Given the description of an element on the screen output the (x, y) to click on. 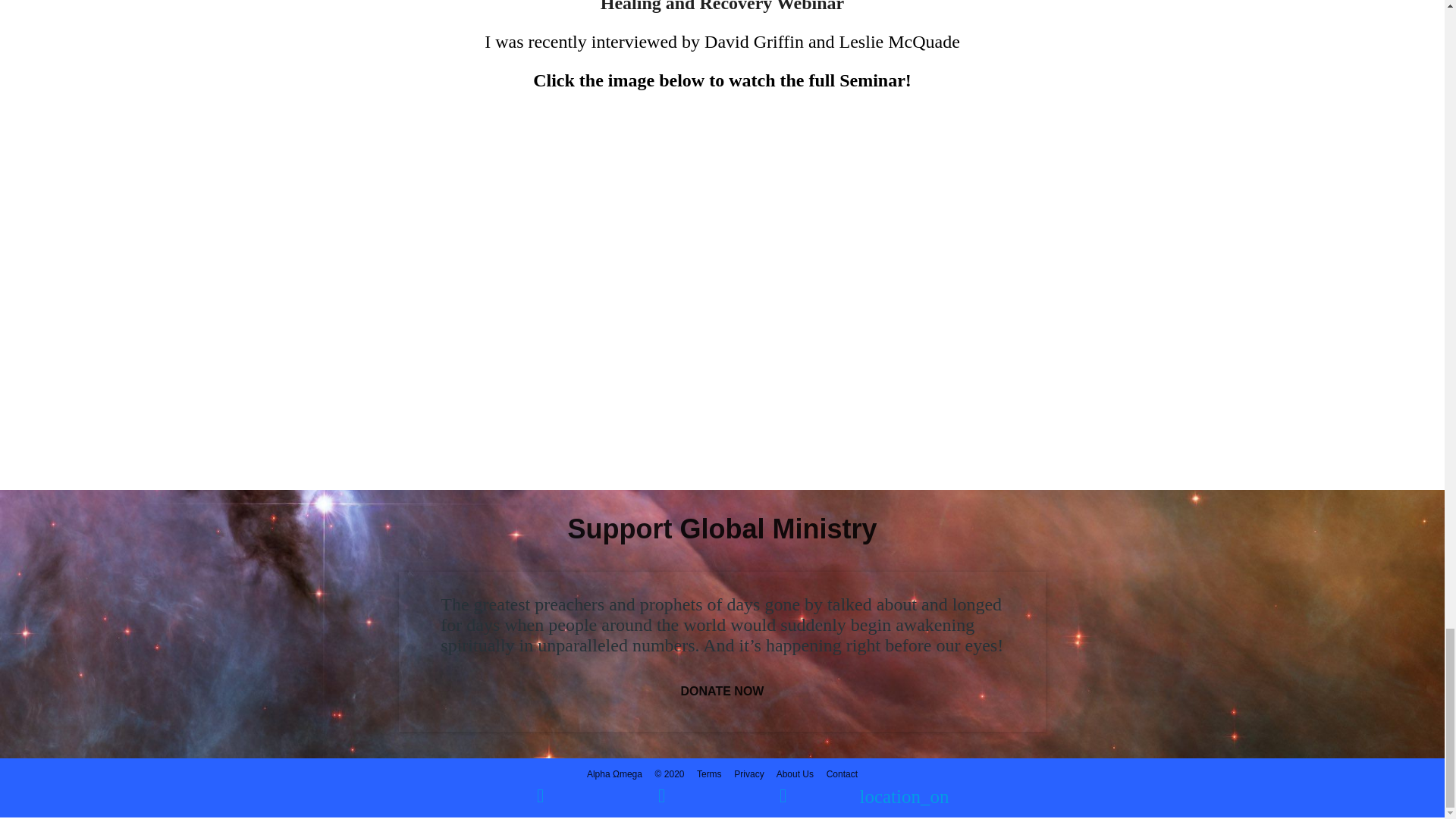
Privacy (747, 774)
Contact (842, 774)
DONATE NOW (722, 691)
About Us  (796, 774)
Terms (709, 774)
